Given the description of an element on the screen output the (x, y) to click on. 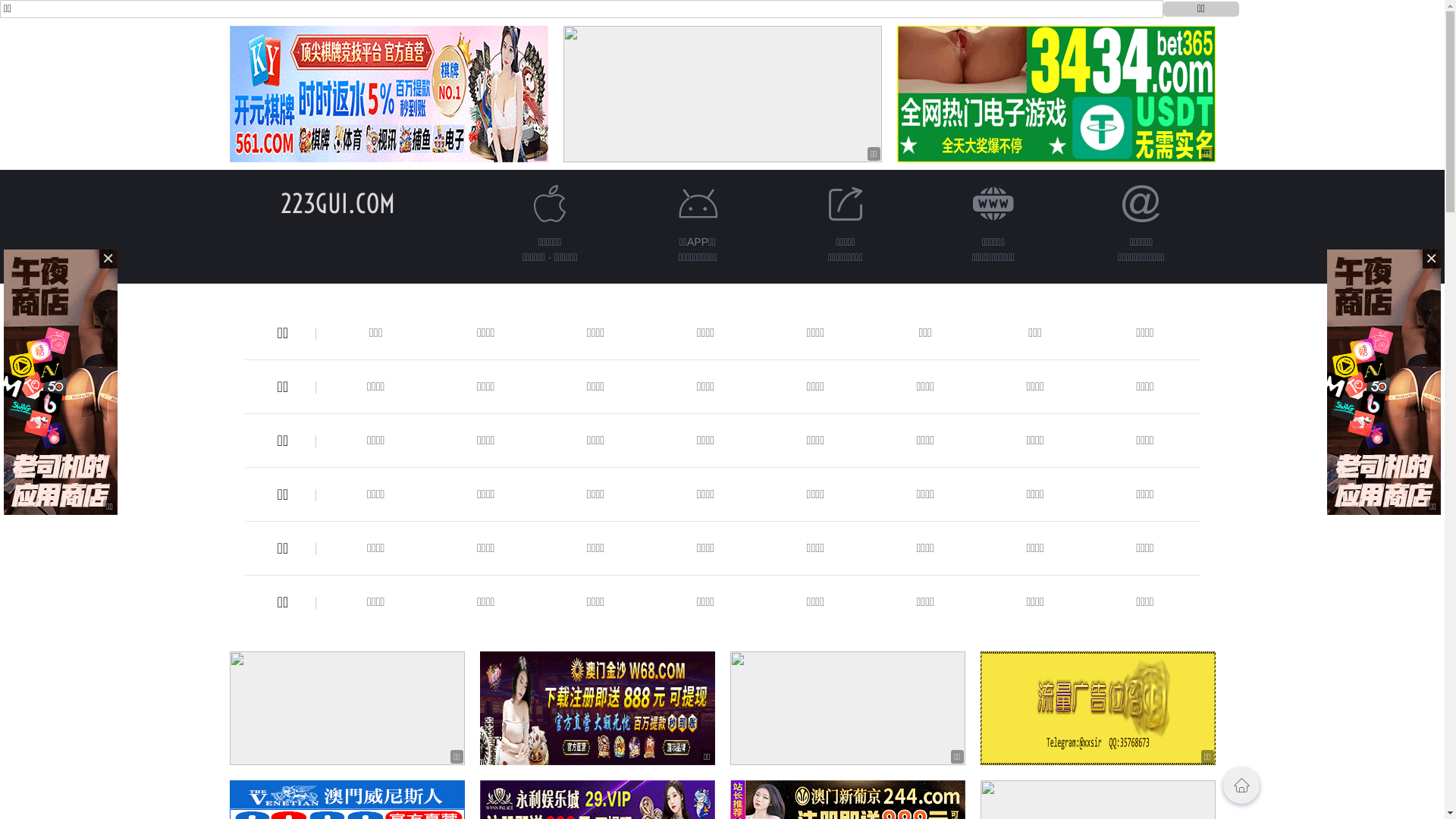
223GUI.COM Element type: text (337, 203)
